Given the description of an element on the screen output the (x, y) to click on. 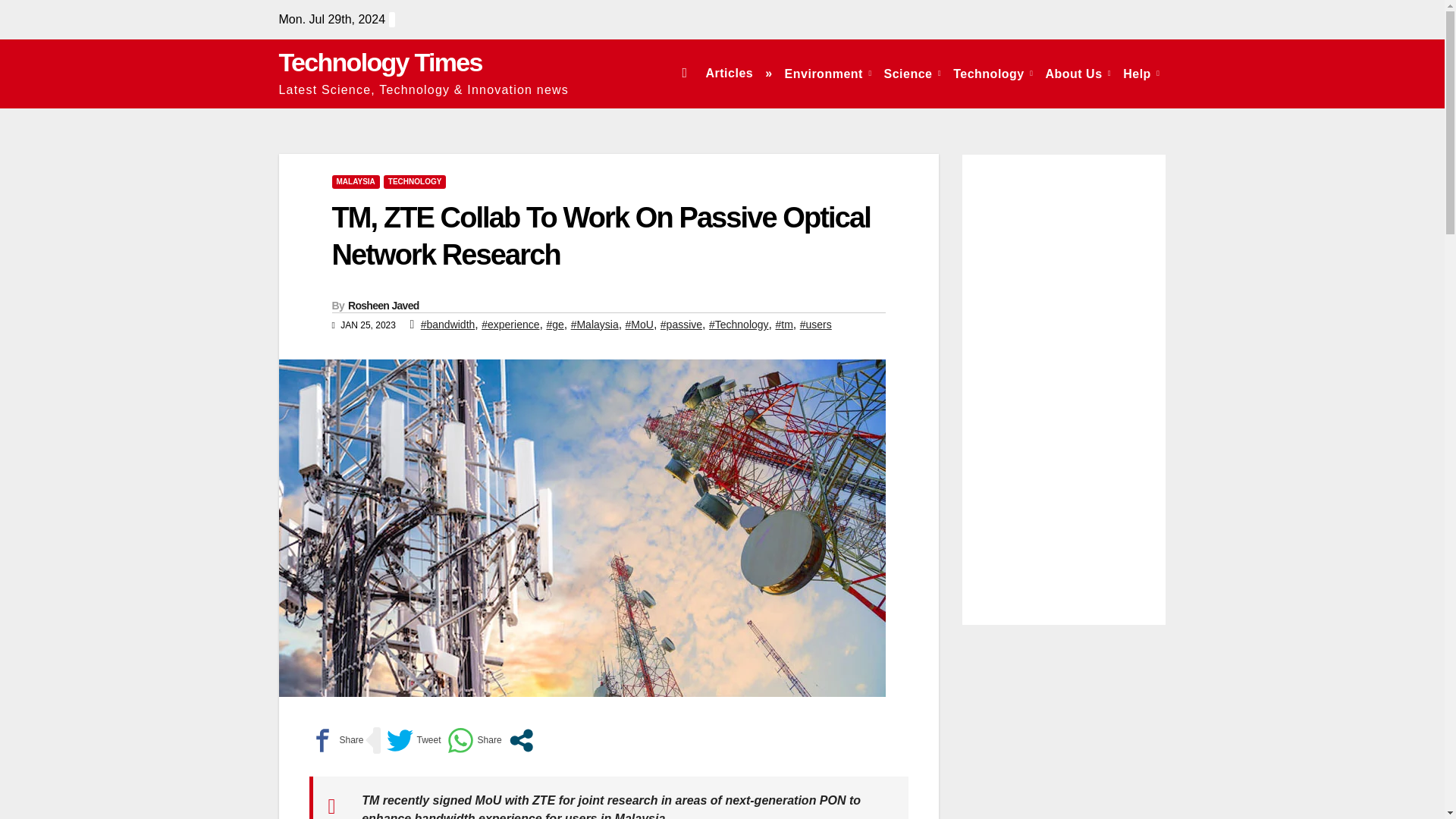
Technology (993, 73)
Environment (827, 73)
Science (912, 73)
Technology Times (380, 61)
Environment (827, 73)
About Us (1077, 73)
Science (912, 73)
Technology (993, 73)
